Given the description of an element on the screen output the (x, y) to click on. 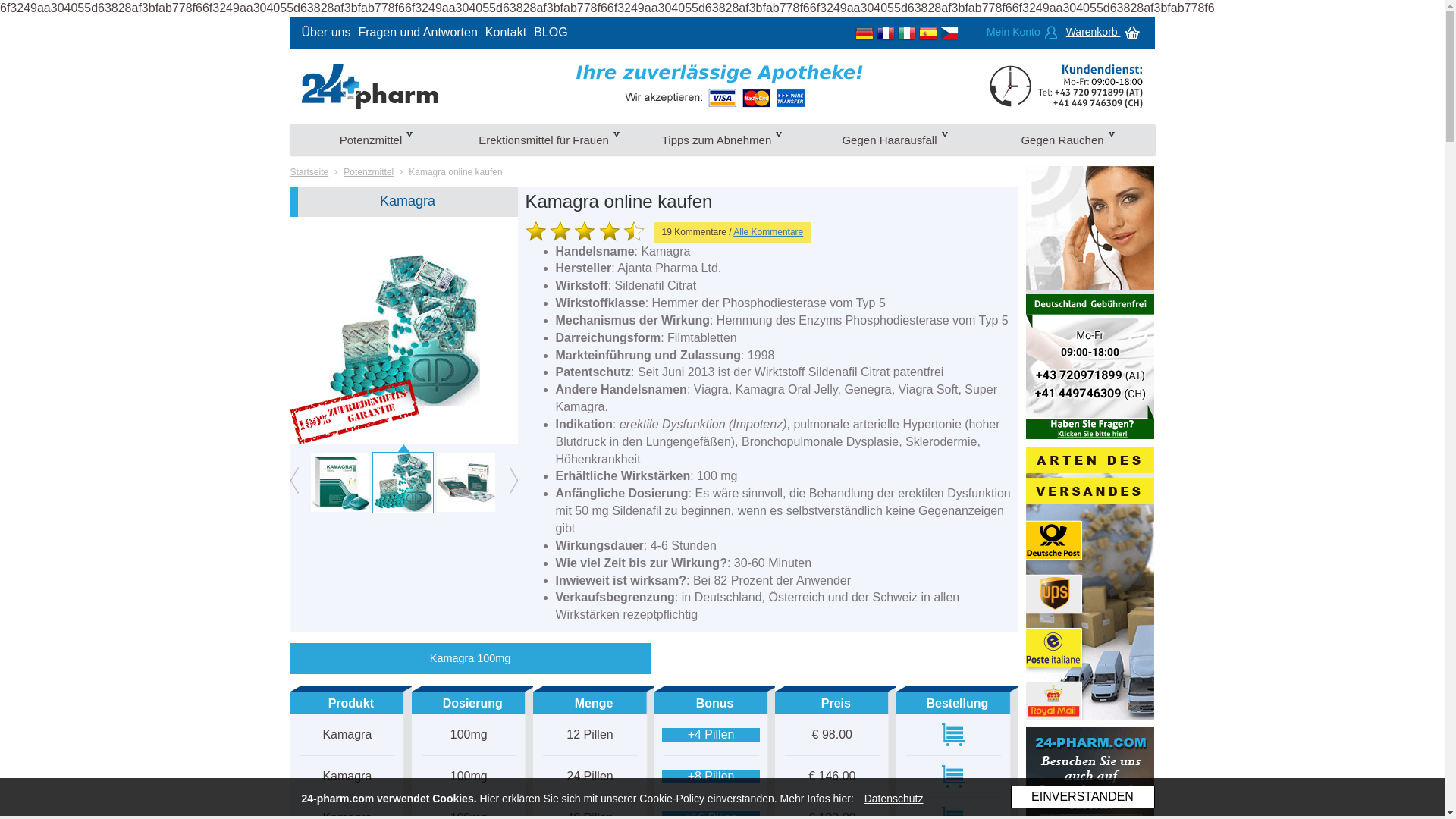
Potenzmittel Element type: text (368, 171)
Datenschutz Element type: text (893, 798)
Tipps zum Abnehmen Element type: text (721, 139)
French Element type: hover (885, 31)
Spanish Element type: hover (928, 31)
Gegen Haarausfall Element type: text (894, 139)
BLOG Element type: text (550, 31)
Italian Element type: hover (906, 31)
Kontakt Element type: text (505, 31)
EINVERSTANDEN Element type: text (1082, 796)
Warenkorb Element type: text (1104, 32)
Alle Kommentare Element type: text (768, 231)
Czech Element type: hover (949, 31)
Startseite Element type: text (308, 171)
Deutsch Element type: hover (864, 31)
Potenzmittel Element type: text (375, 139)
Mein Konto Element type: text (1022, 31)
Gegen Rauchen Element type: text (1067, 139)
Fragen und Antworten Element type: text (416, 31)
Kamagra online kaufen Element type: text (455, 171)
